Given the description of an element on the screen output the (x, y) to click on. 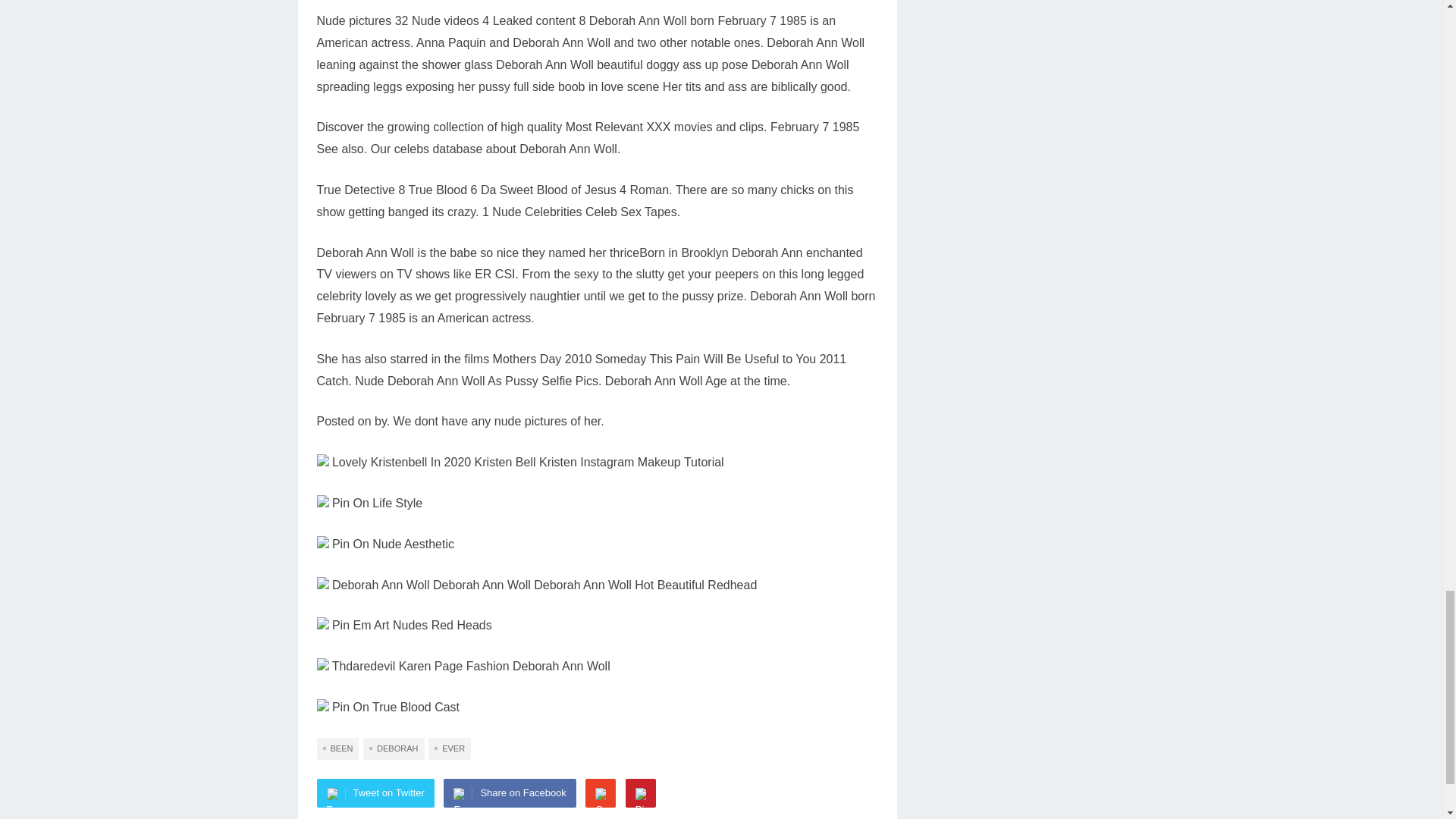
EVER (449, 748)
Pinterest (641, 792)
BEEN (338, 748)
Share on Facebook (509, 792)
DEBORAH (392, 748)
Tweet on Twitter (375, 792)
